Given the description of an element on the screen output the (x, y) to click on. 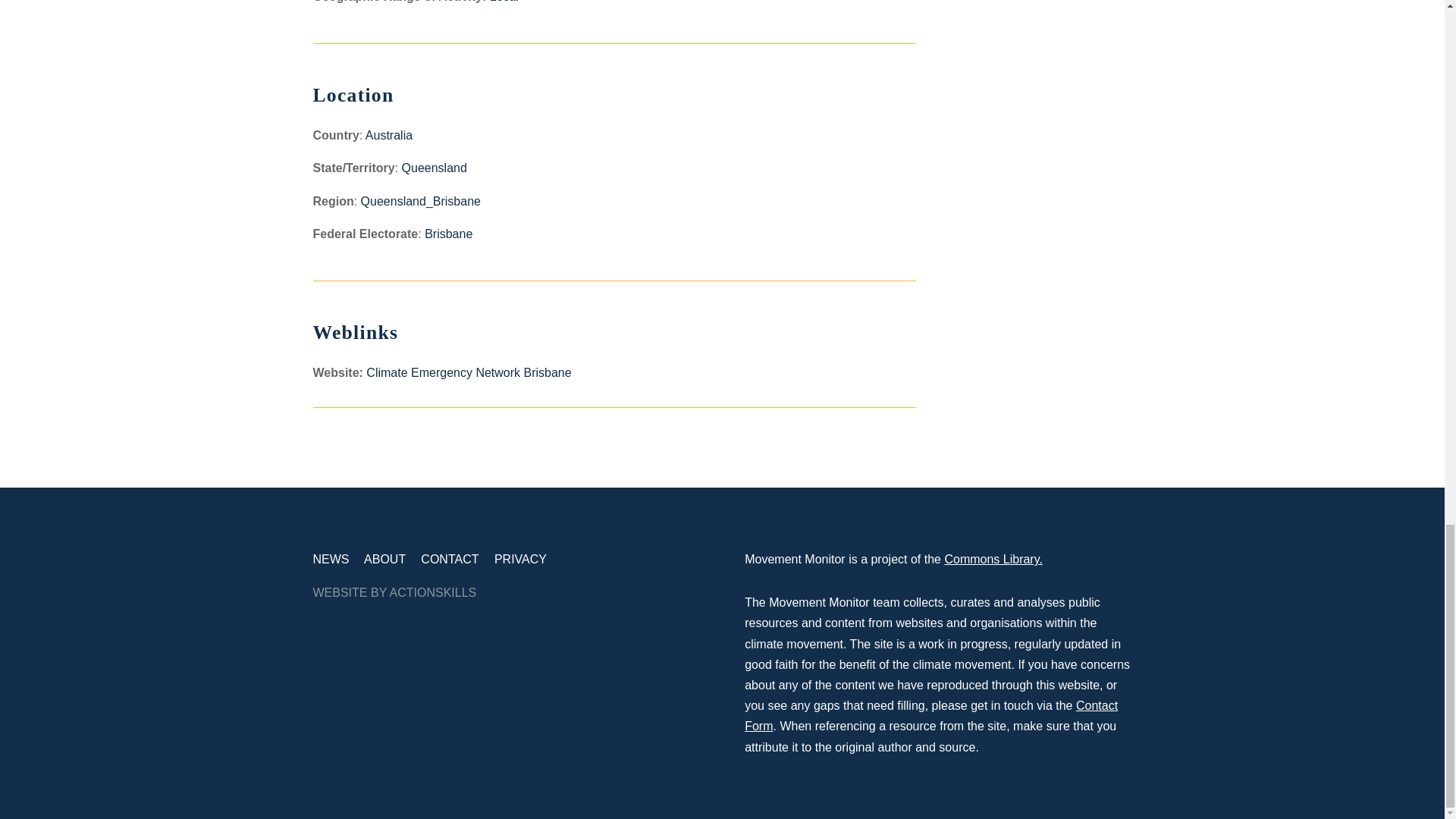
Climate Emergency Network Brisbane (468, 372)
Brisbane (448, 233)
Australia (388, 134)
Local (503, 1)
Queensland (434, 167)
